Given the description of an element on the screen output the (x, y) to click on. 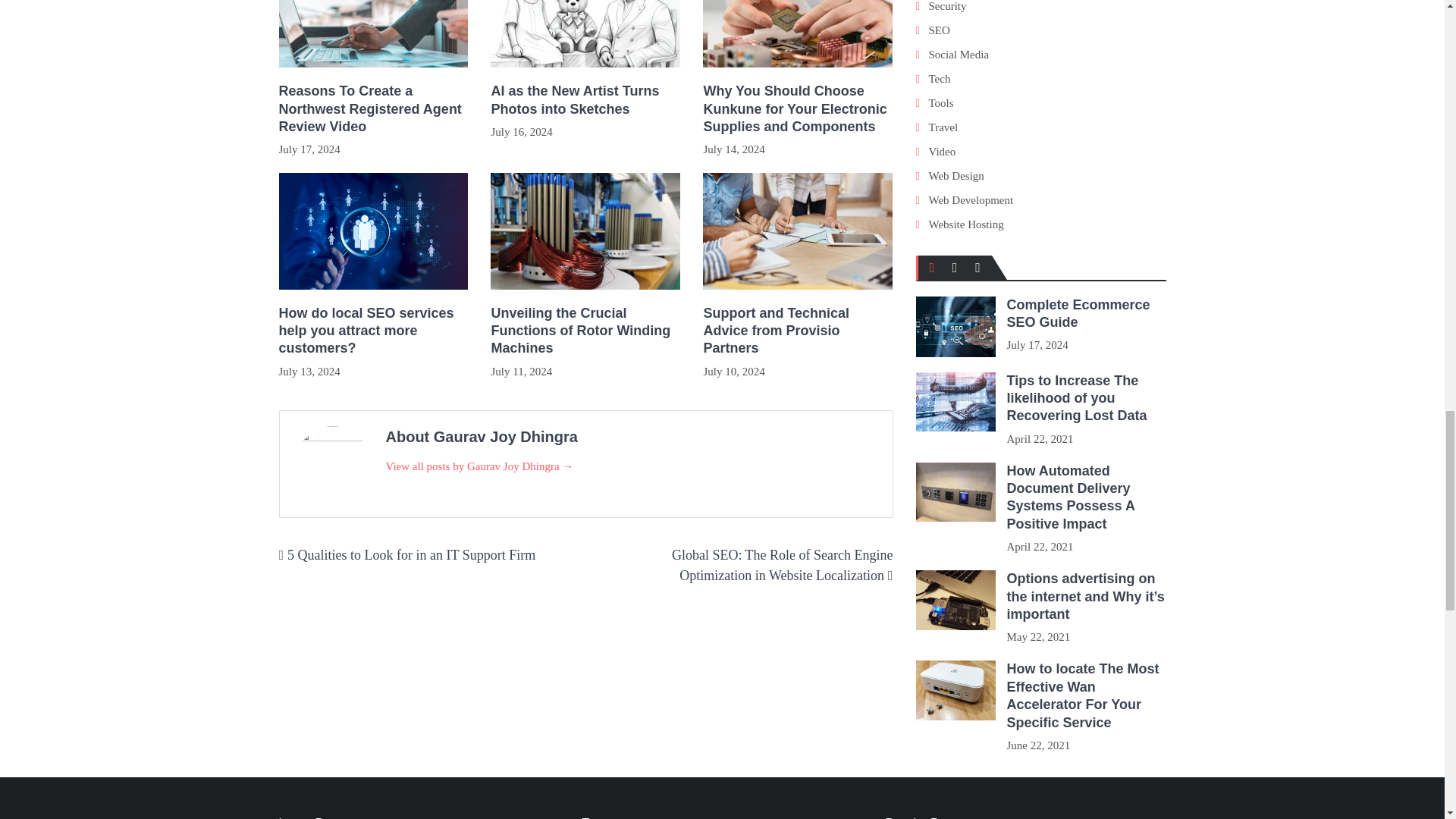
5 Qualities to Look for in an IT Support Firm (410, 554)
Reasons To Create a Northwest Registered Agent Review Video (373, 108)
Support and Technical Advice from Provisio Partners (797, 330)
Comments (977, 267)
Popular (932, 267)
Unveiling the Crucial Functions of Rotor Winding Machines (584, 330)
AI as the New Artist Turns Photos into Sketches (584, 99)
How do local SEO services help you attract more customers? (373, 330)
Recent (955, 267)
